Given the description of an element on the screen output the (x, y) to click on. 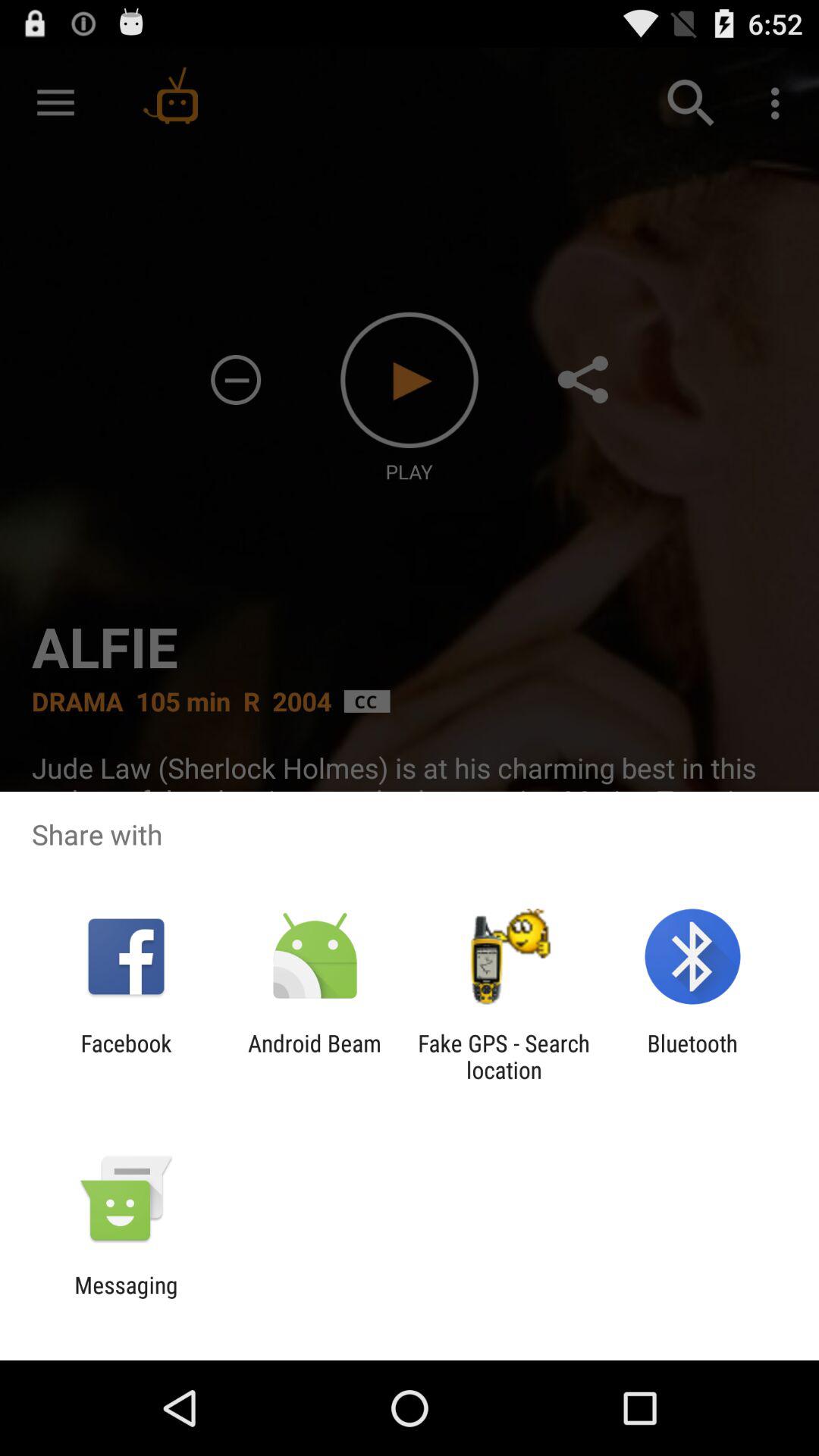
turn on the icon next to android beam icon (503, 1056)
